Given the description of an element on the screen output the (x, y) to click on. 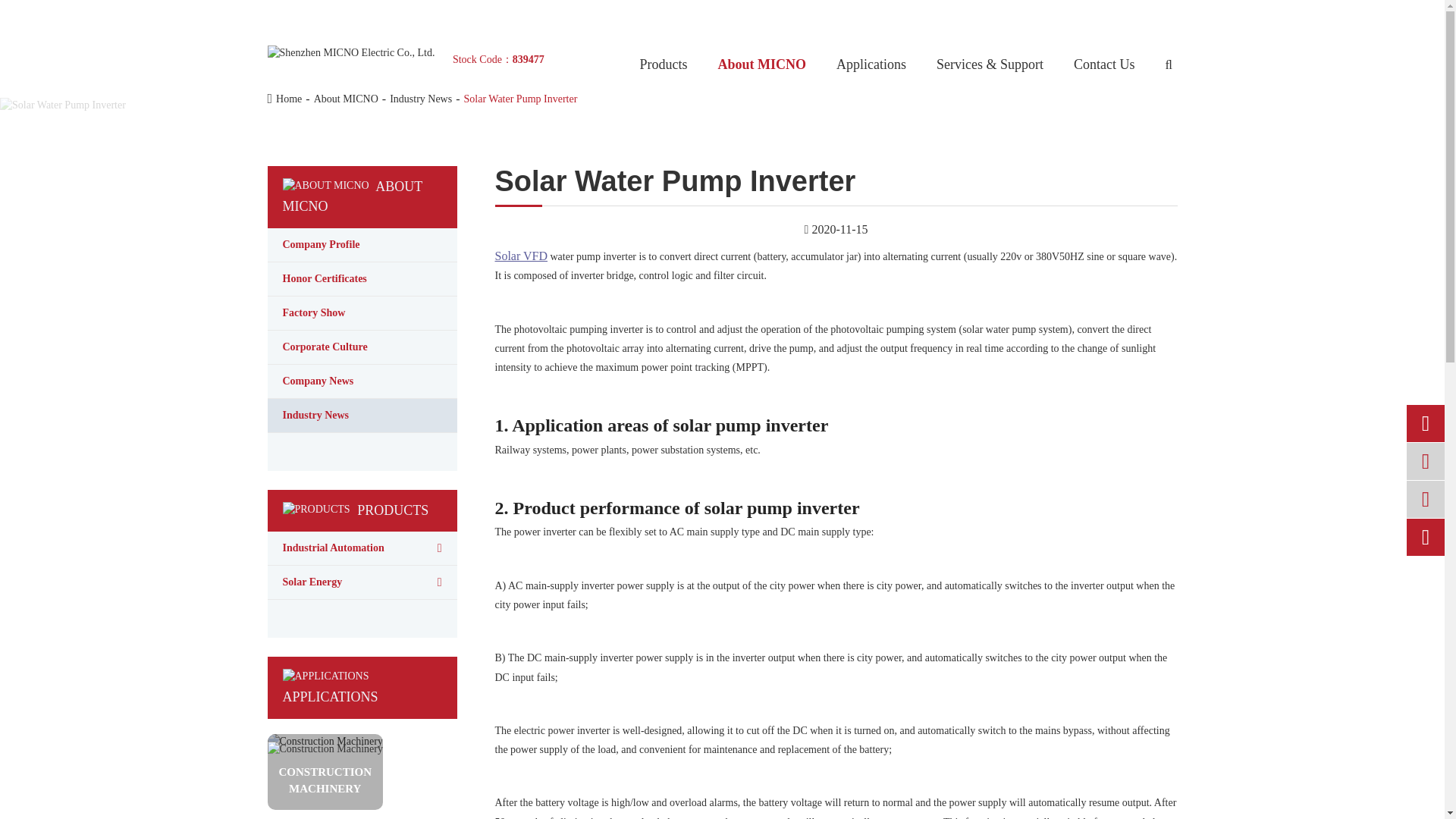
Cloud Platform (966, 16)
IOT Cloud Platform (943, 16)
Corporation Mailbox (990, 16)
